Given the description of an element on the screen output the (x, y) to click on. 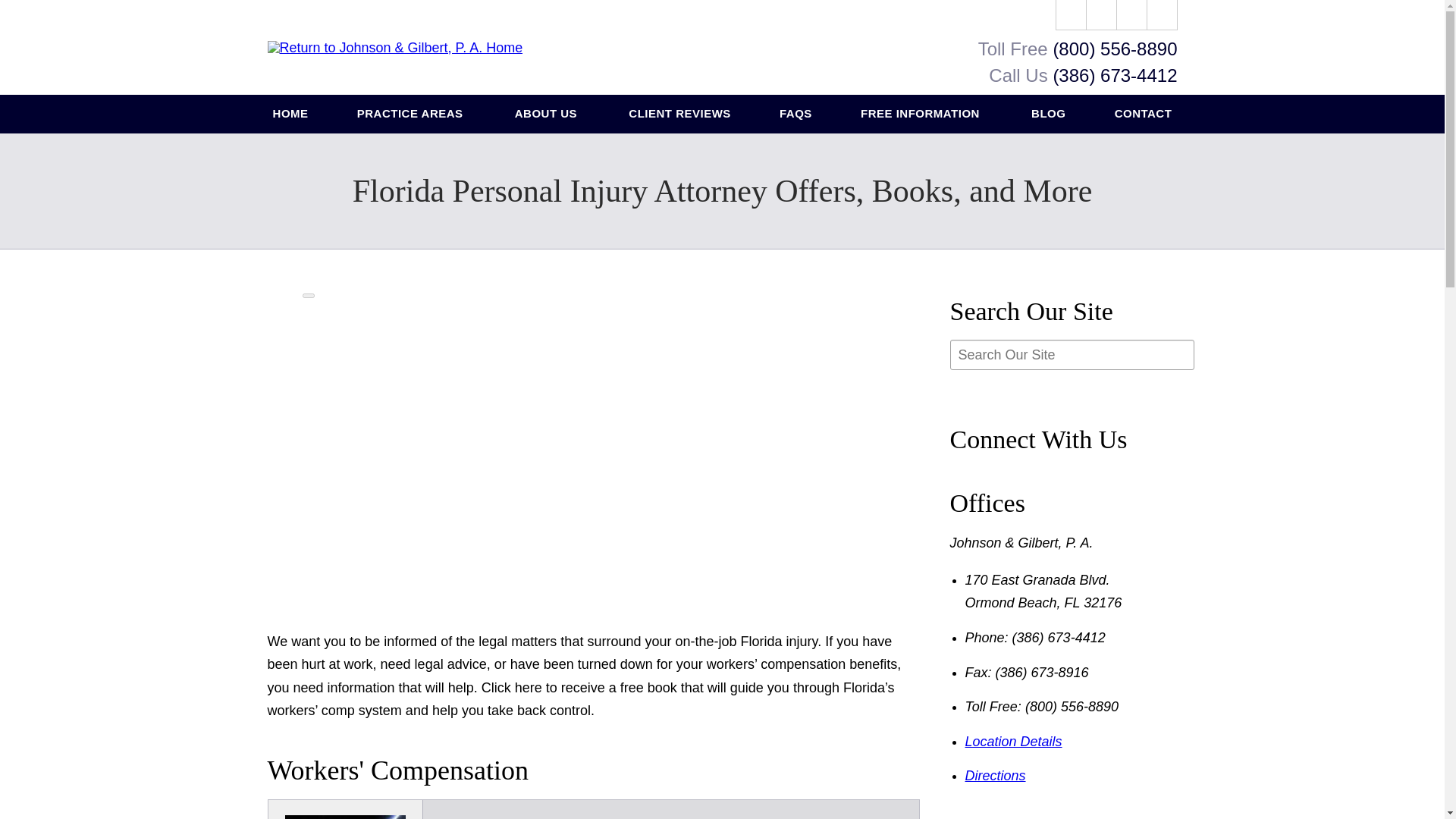
Search (1161, 15)
FREE INFORMATION (921, 114)
Directions (994, 775)
ABOUT US (547, 114)
CLIENT REVIEWS (679, 114)
CONTACT (1143, 114)
HOME (290, 114)
FAQS (795, 114)
Location Details (1012, 741)
PRACTICE AREAS (411, 114)
BLOG (1048, 114)
